Given the description of an element on the screen output the (x, y) to click on. 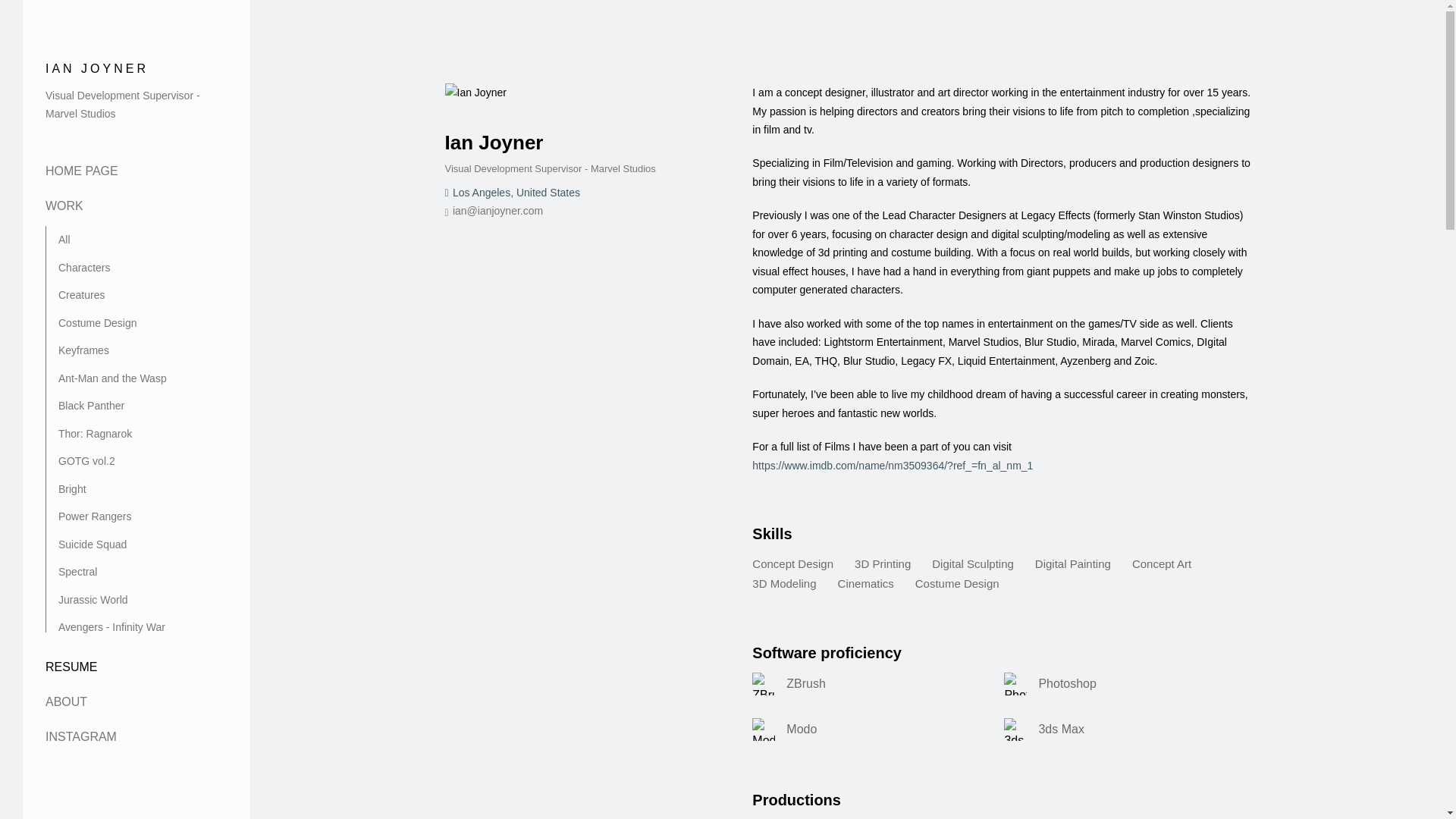
ABOUT (66, 701)
Costume Design (97, 322)
Avengers - Infinity War (111, 626)
Ant-Man and the Wasp (112, 378)
GOTG vol.2 (86, 460)
INSTAGRAM (80, 736)
Spectral (77, 571)
Keyframes (83, 349)
All (63, 239)
Characters (84, 267)
